Given the description of an element on the screen output the (x, y) to click on. 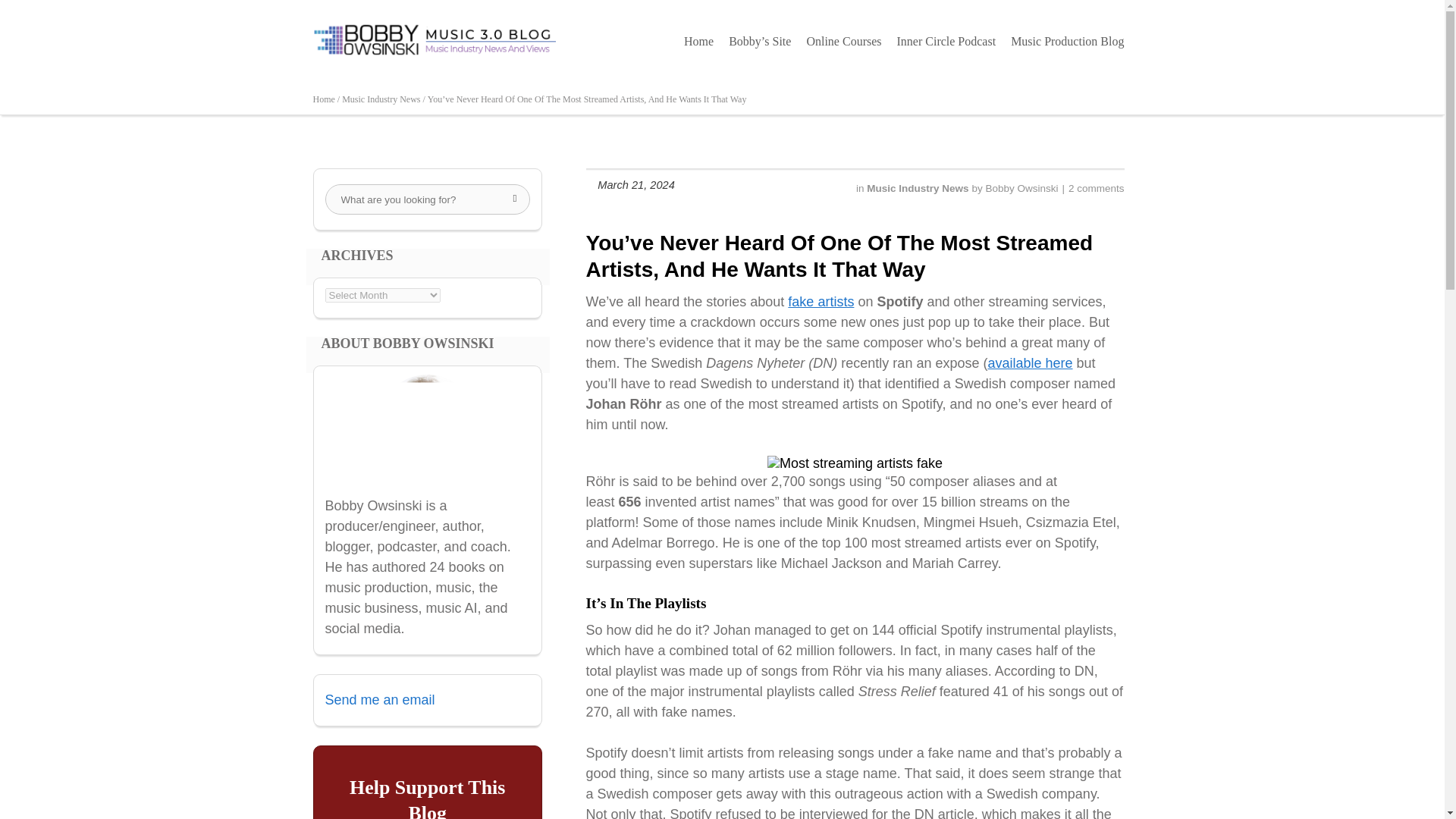
2 comments (1096, 188)
Online Courses (842, 41)
Send me an email (378, 699)
Home (698, 41)
Music Production Blog (1067, 41)
Music Industry News (918, 188)
Inner Circle Podcast (946, 41)
Bobby Owsinski (1021, 188)
